Given the description of an element on the screen output the (x, y) to click on. 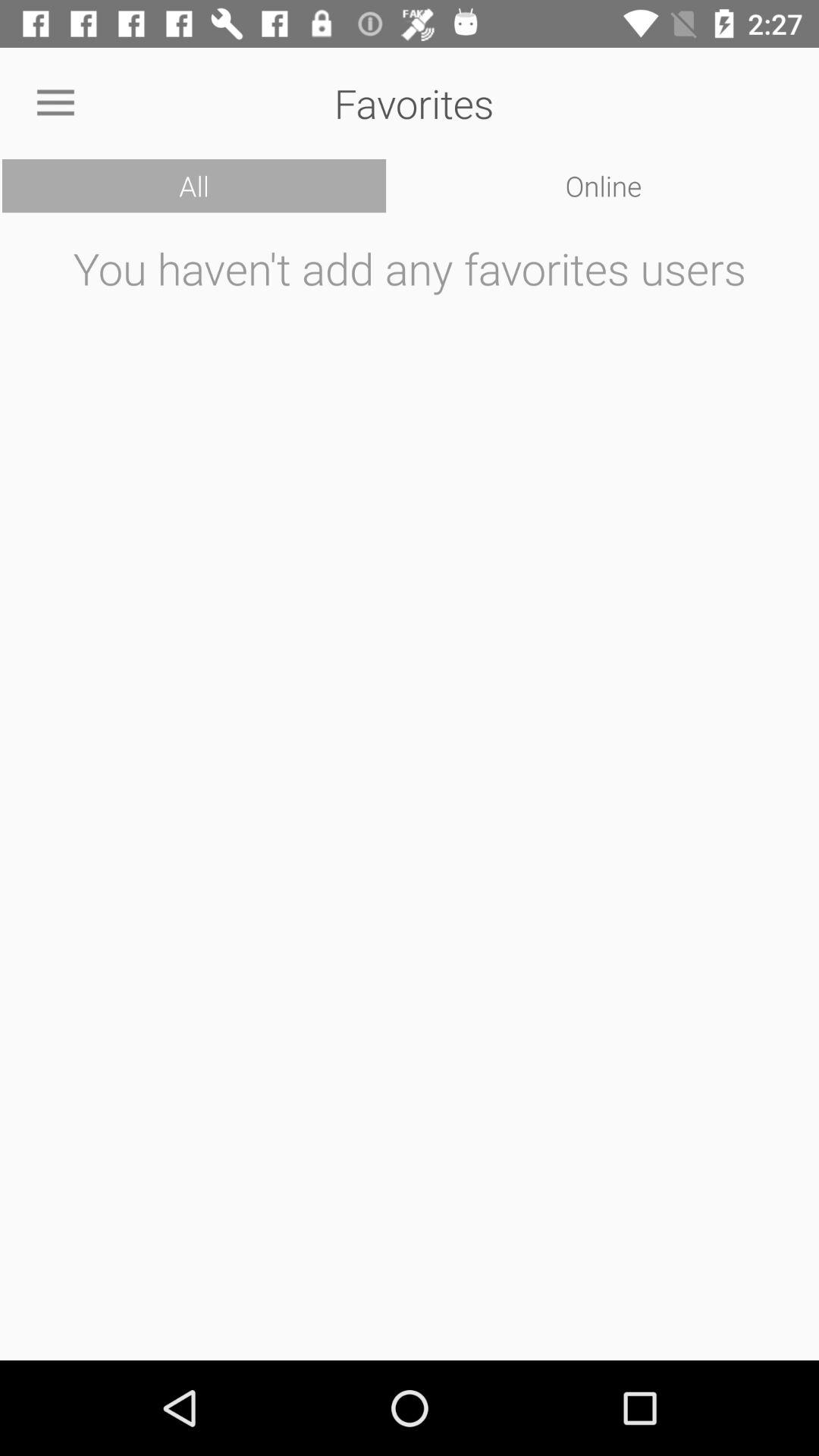
launch the icon next to the all icon (603, 185)
